Given the description of an element on the screen output the (x, y) to click on. 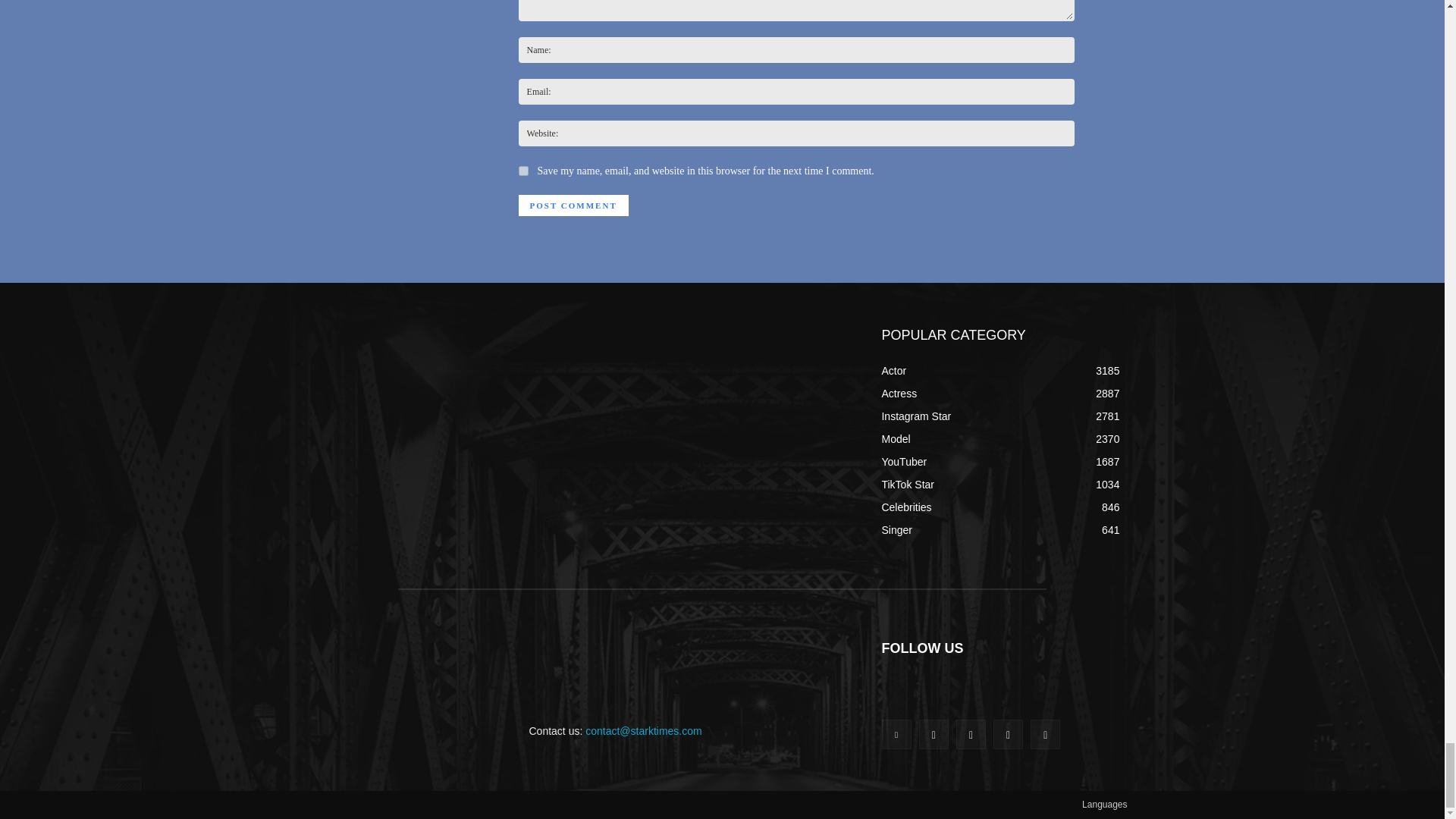
yes (523, 171)
Post Comment (573, 205)
